Given the description of an element on the screen output the (x, y) to click on. 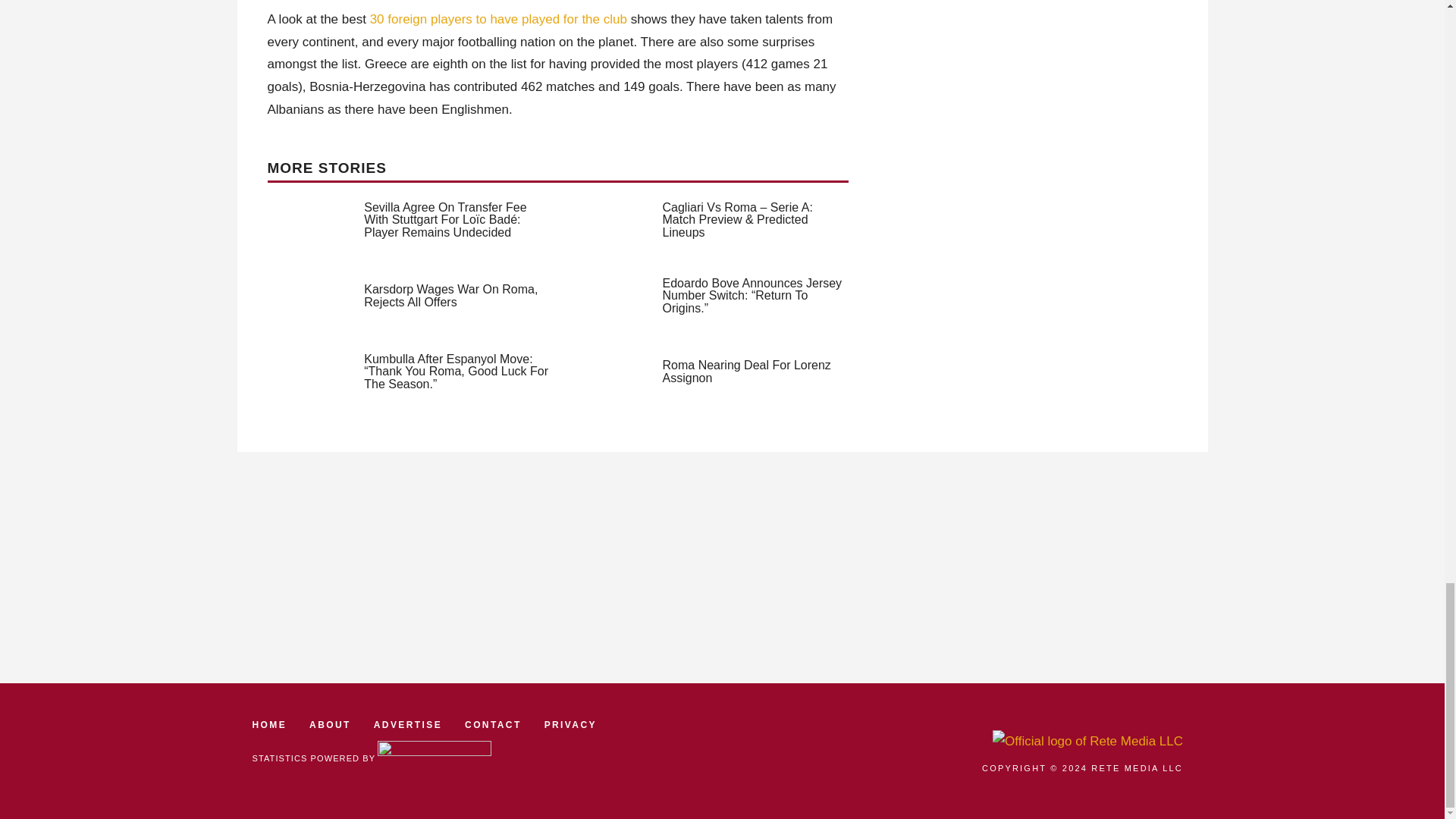
ABOUT (329, 725)
30 foreign players to have played for the club (498, 19)
HOME (268, 725)
ADVERTISE (408, 725)
PRIVACY (570, 725)
CONTACT (492, 725)
Karsdorp Wages War On Roma, Rejects All Offers (450, 295)
Roma Nearing Deal For Lorenz Assignon (746, 371)
